Given the description of an element on the screen output the (x, y) to click on. 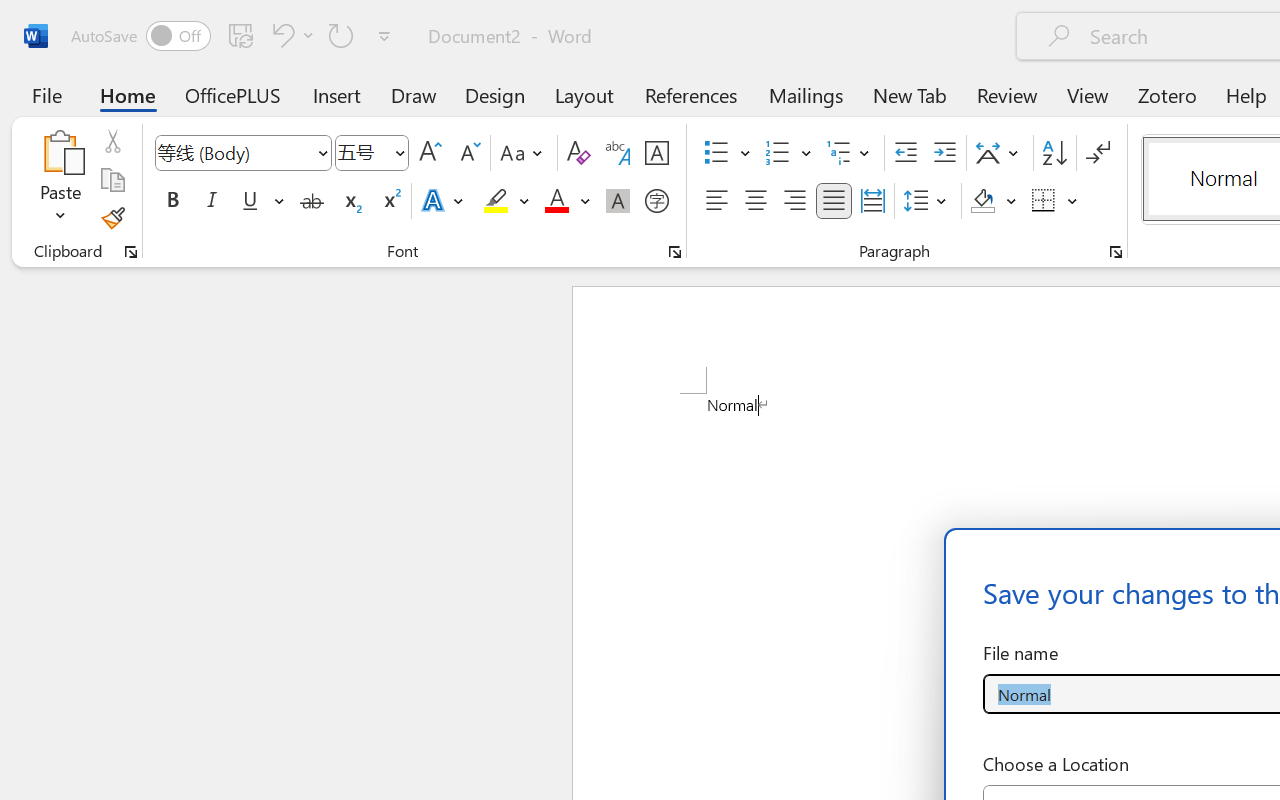
Numbering (778, 153)
Font (234, 152)
Borders (1055, 201)
Subscript (350, 201)
Phonetic Guide... (618, 153)
Zotero (1166, 94)
Distributed (872, 201)
Repeat Style (341, 35)
File Tab (46, 94)
Enclose Characters... (656, 201)
Undo Apply Quick Style (290, 35)
Clear Formatting (578, 153)
Align Right (794, 201)
Shading RGB(0, 0, 0) (982, 201)
Text Effects and Typography (444, 201)
